Given the description of an element on the screen output the (x, y) to click on. 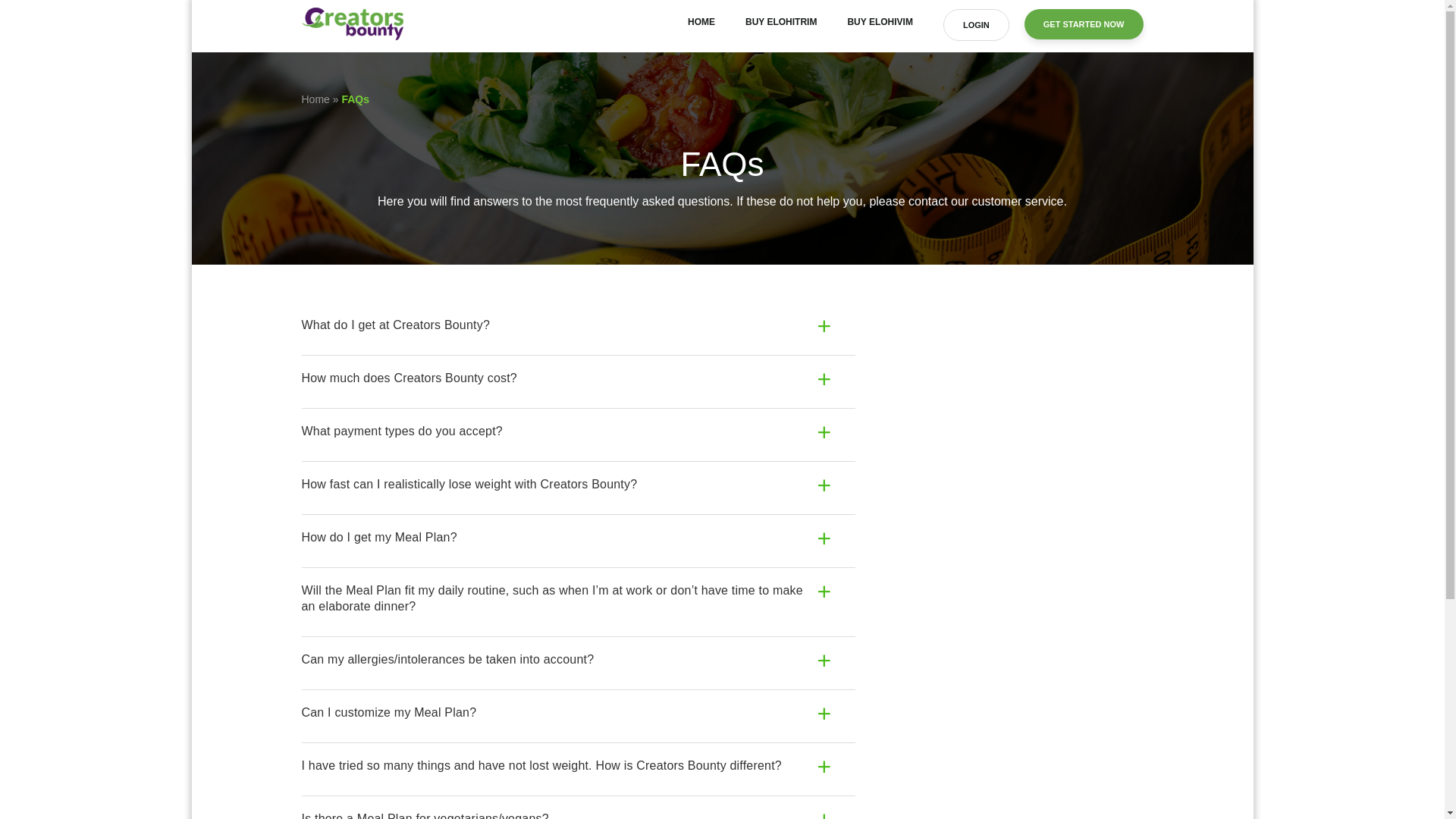
Buy Elohivim (879, 22)
How do I get my Meal Plan? (578, 538)
What payment types do you accept? (578, 431)
How much does Creators Bounty cost? (578, 378)
What do I get at Creators Bounty? (578, 325)
BUY ELOHIVIM (879, 22)
Login (976, 24)
Home (315, 99)
Buy Elohitrim (780, 22)
